Given the description of an element on the screen output the (x, y) to click on. 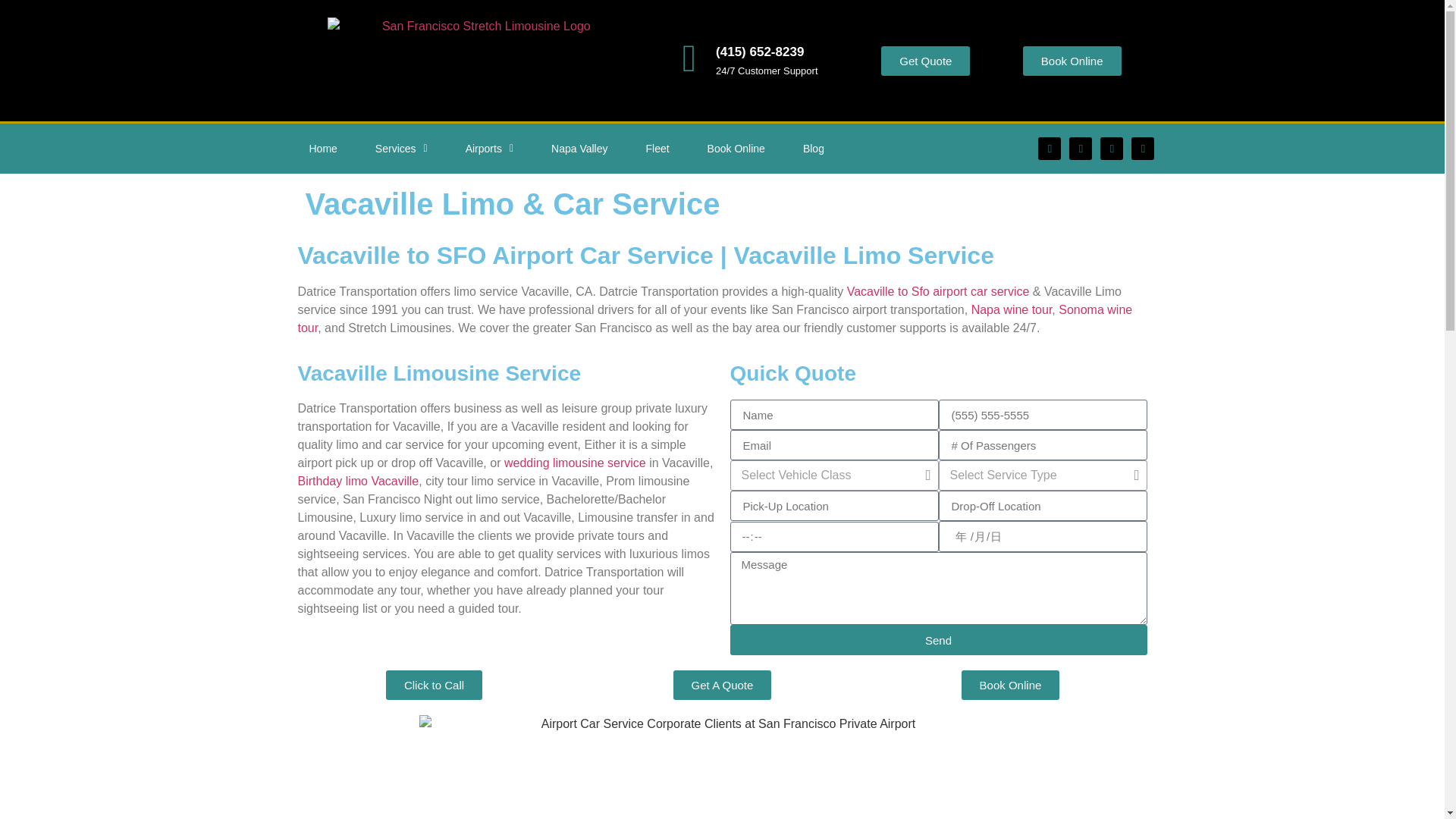
Get Quote (924, 60)
Home (322, 148)
Blog (813, 148)
Services (401, 148)
Napa Valley (579, 148)
Airports (489, 148)
Book Online (736, 148)
Fleet (656, 148)
Book Online (1072, 60)
